Given the description of an element on the screen output the (x, y) to click on. 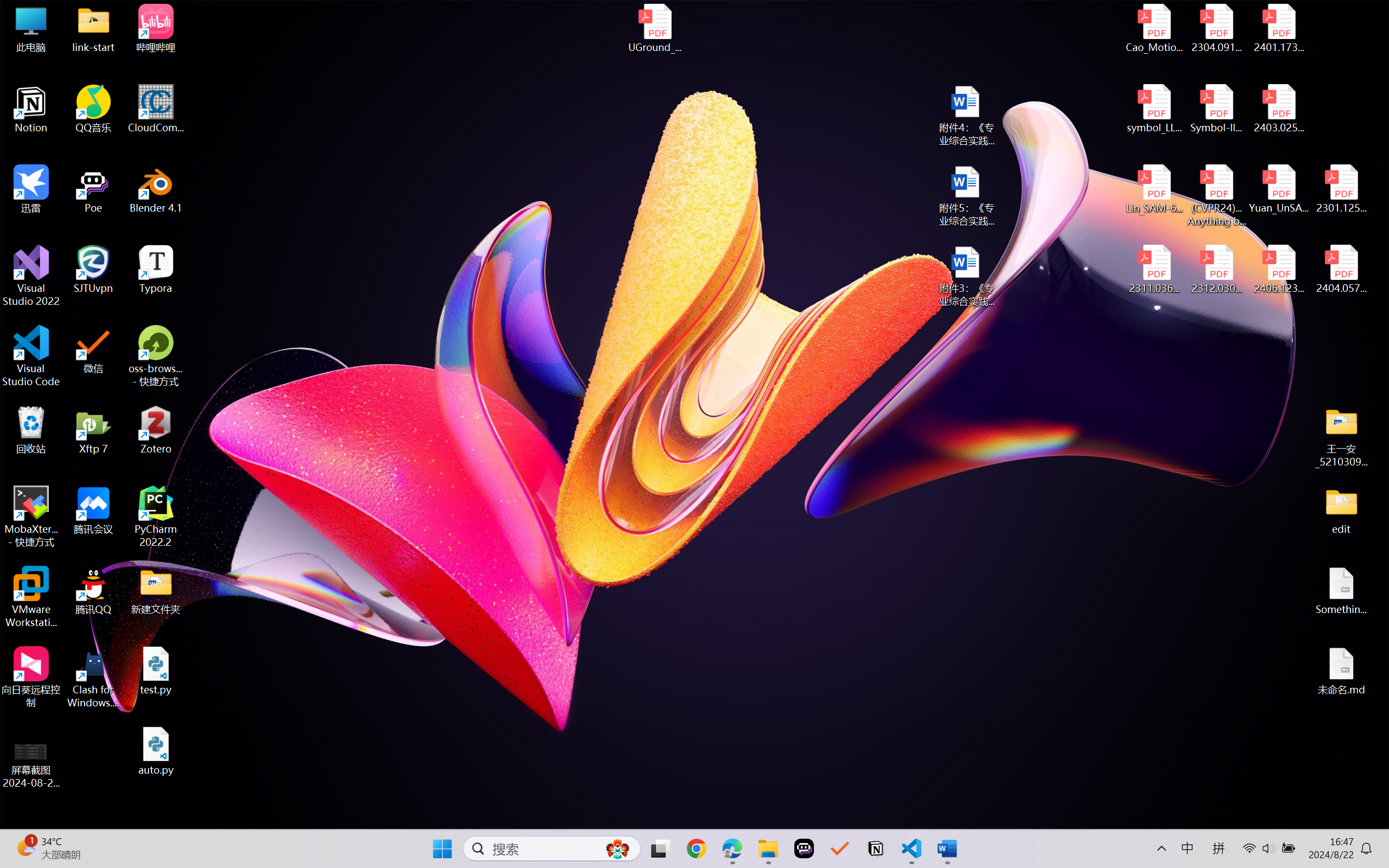
2304.09121v3.pdf (1216, 28)
Typora (156, 269)
Visual Studio 2022 (31, 276)
2401.17399v1.pdf (1278, 28)
CloudCompare (156, 109)
2312.03032v2.pdf (1216, 269)
2403.02502v1.pdf (1278, 109)
